Given the description of an element on the screen output the (x, y) to click on. 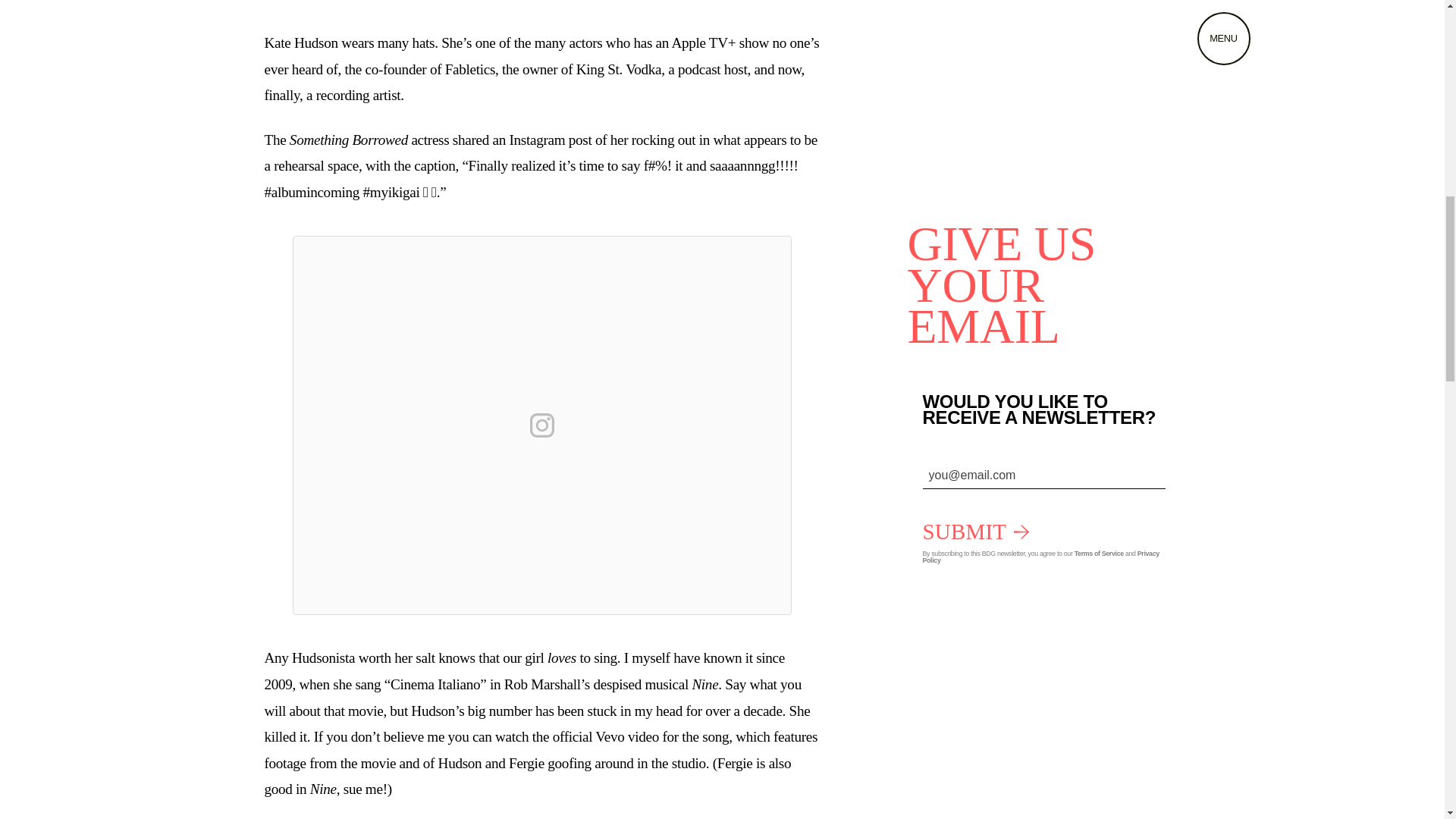
Privacy Policy (1039, 556)
View on Instagram (540, 425)
Terms of Service (1099, 551)
SUBMIT (975, 528)
